Given the description of an element on the screen output the (x, y) to click on. 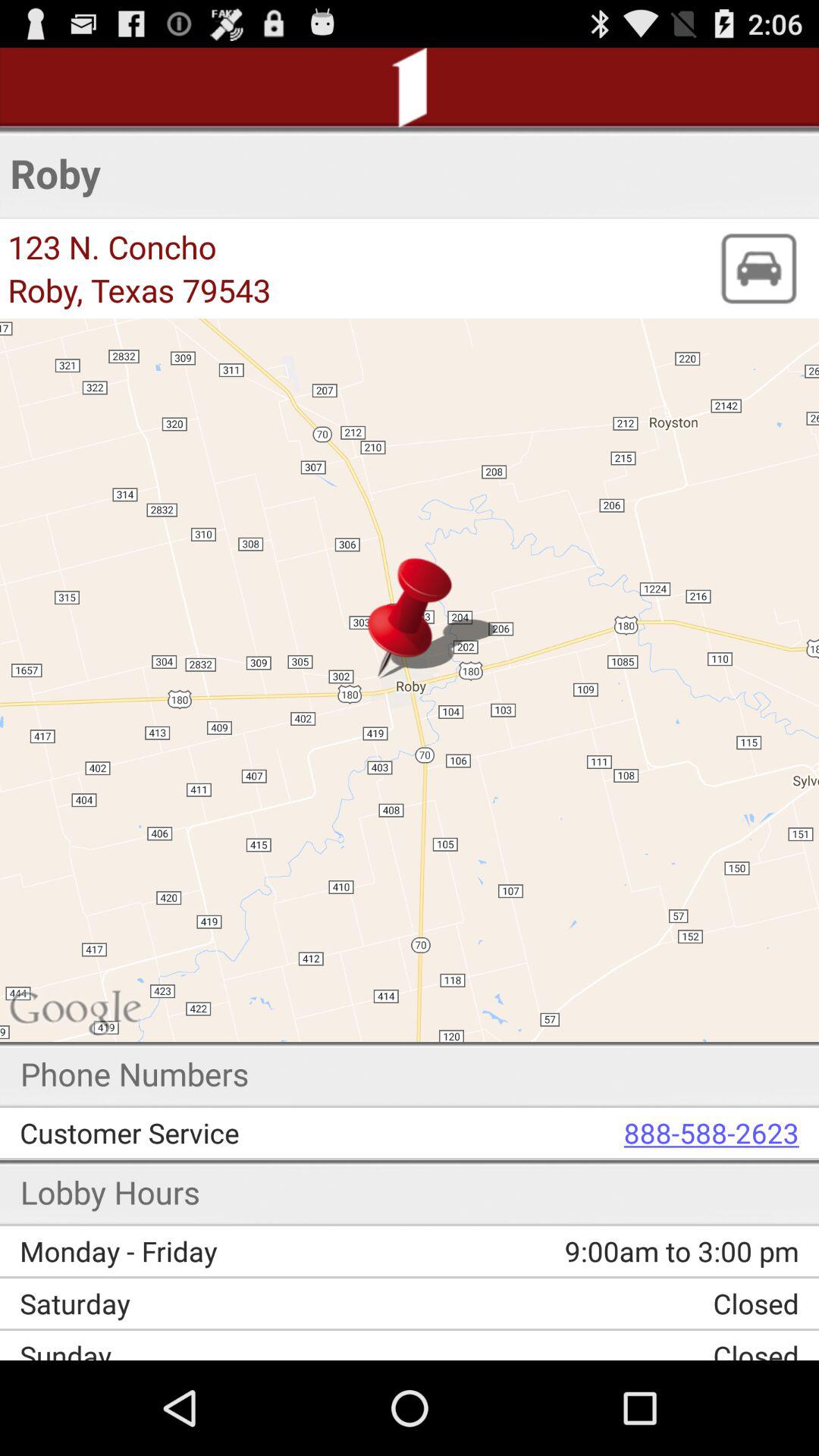
select the icon next to roby, texas 79543 (757, 268)
